Given the description of an element on the screen output the (x, y) to click on. 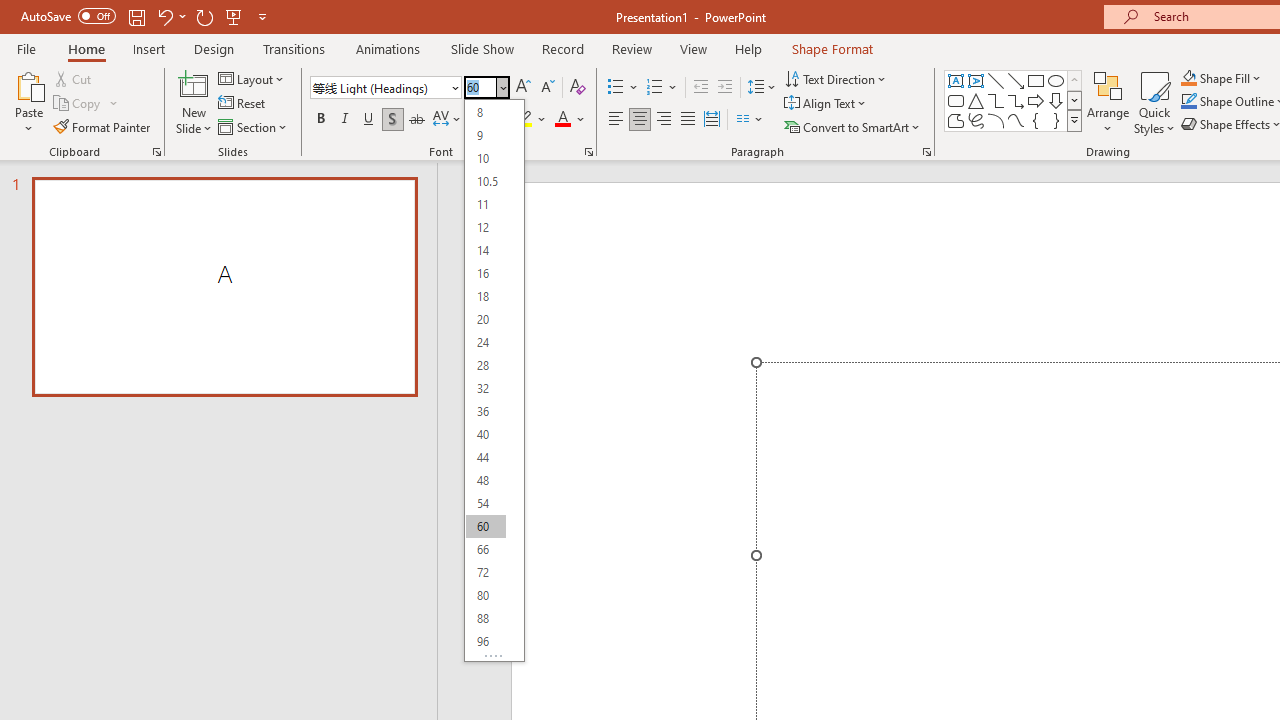
60 (485, 525)
11 (485, 204)
Class: NetUIScrollBar (514, 376)
40 (485, 434)
14 (485, 250)
